Given the description of an element on the screen output the (x, y) to click on. 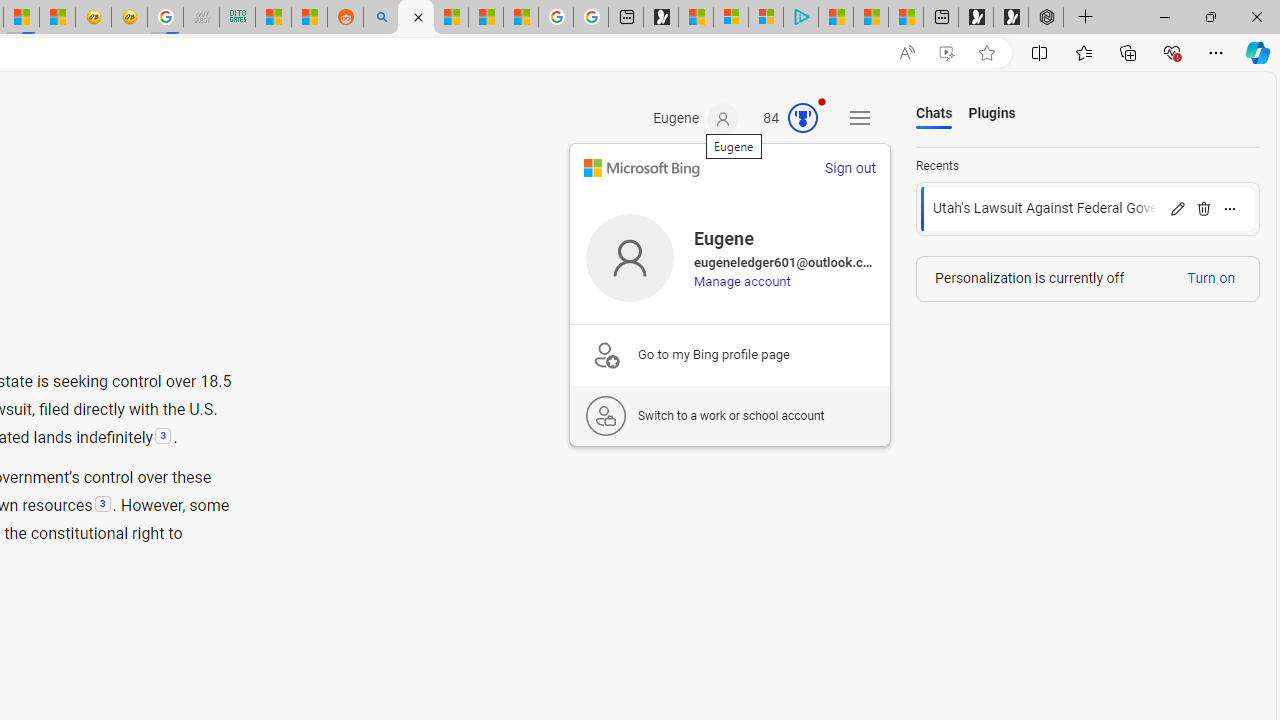
Plugins (991, 113)
Profile Picture (630, 257)
Settings and quick links (859, 117)
Animation (821, 101)
work signin (605, 416)
Rename (1177, 208)
Delete (1203, 208)
Turn on (1211, 278)
Switch to a work or school account (729, 415)
